Given the description of an element on the screen output the (x, y) to click on. 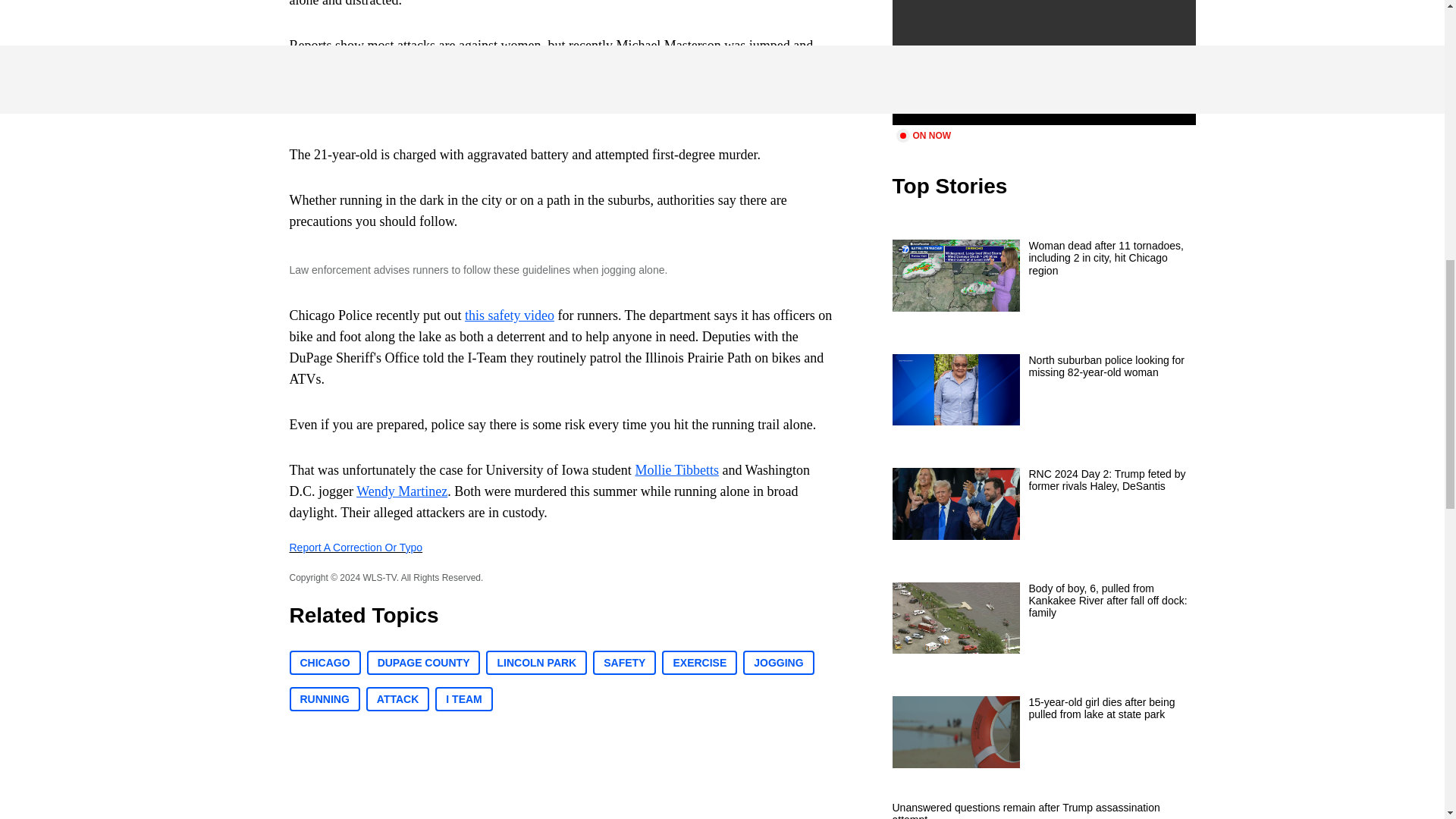
video.title (1043, 62)
